Given the description of an element on the screen output the (x, y) to click on. 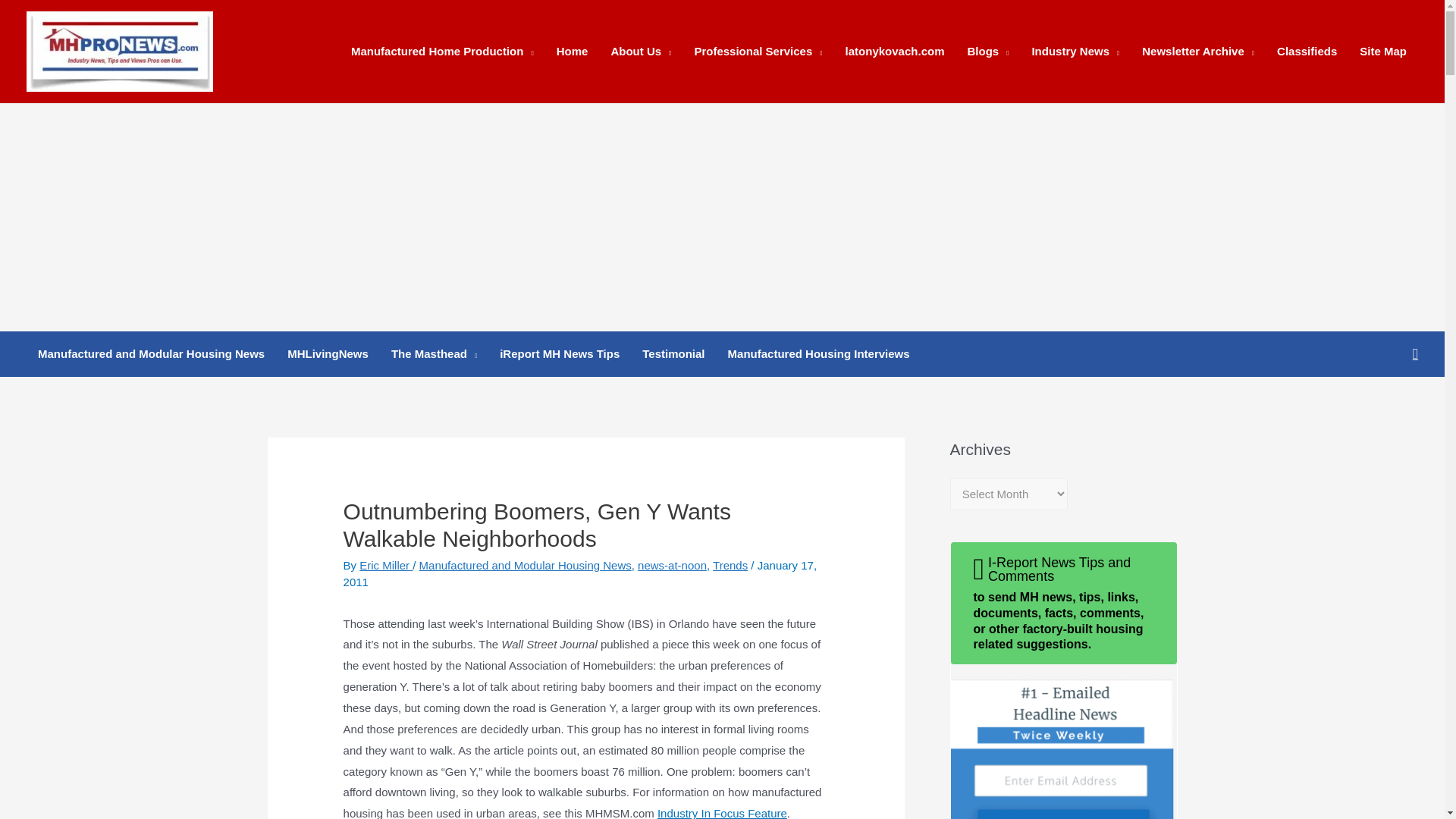
Professional Services (757, 51)
Newsletter Archive (1198, 51)
Industry News (1075, 51)
Manufactured Home Production (441, 51)
Classifieds (1306, 51)
latonykovach.com (895, 51)
Home (571, 51)
Site Map (1383, 51)
About Us (640, 51)
View all posts by Eric Miller (385, 564)
Blogs (987, 51)
